Given the description of an element on the screen output the (x, y) to click on. 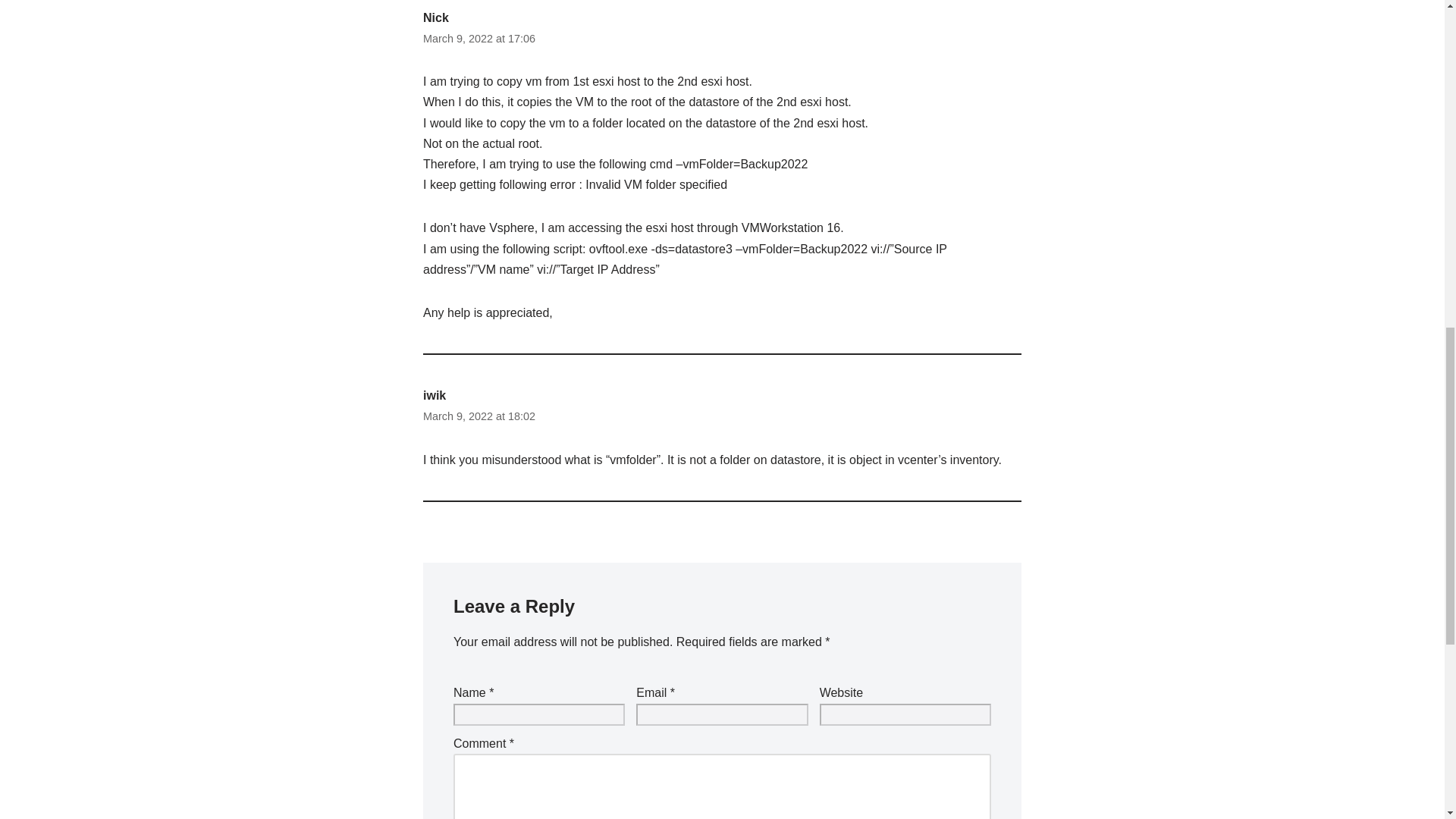
March 9, 2022 at 17:06 (479, 37)
March 9, 2022 at 18:02 (479, 415)
